Given the description of an element on the screen output the (x, y) to click on. 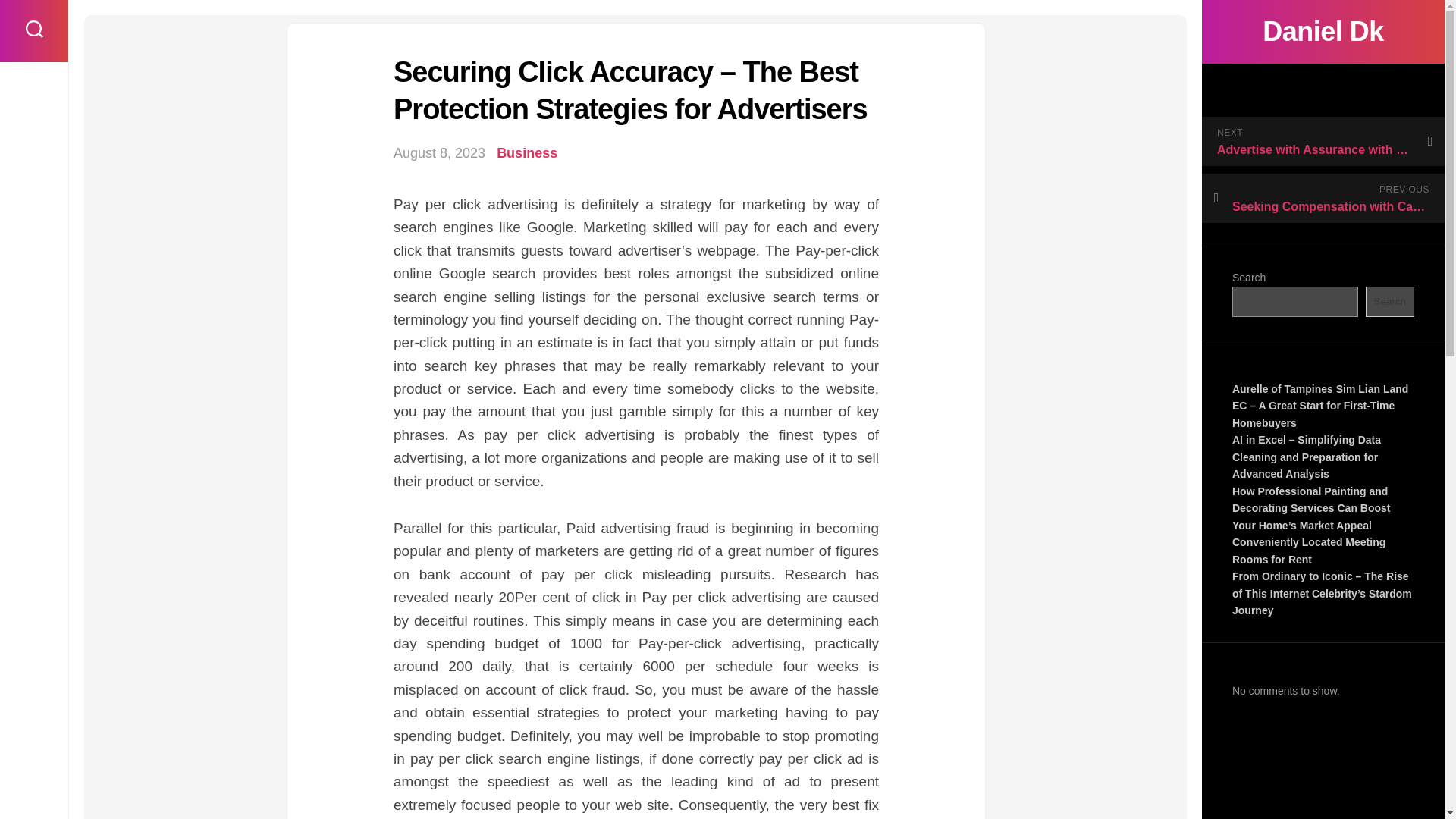
Business (526, 152)
Search (1389, 301)
Daniel Dk (1322, 31)
Conveniently Located Meeting Rooms for Rent (1308, 550)
